Given the description of an element on the screen output the (x, y) to click on. 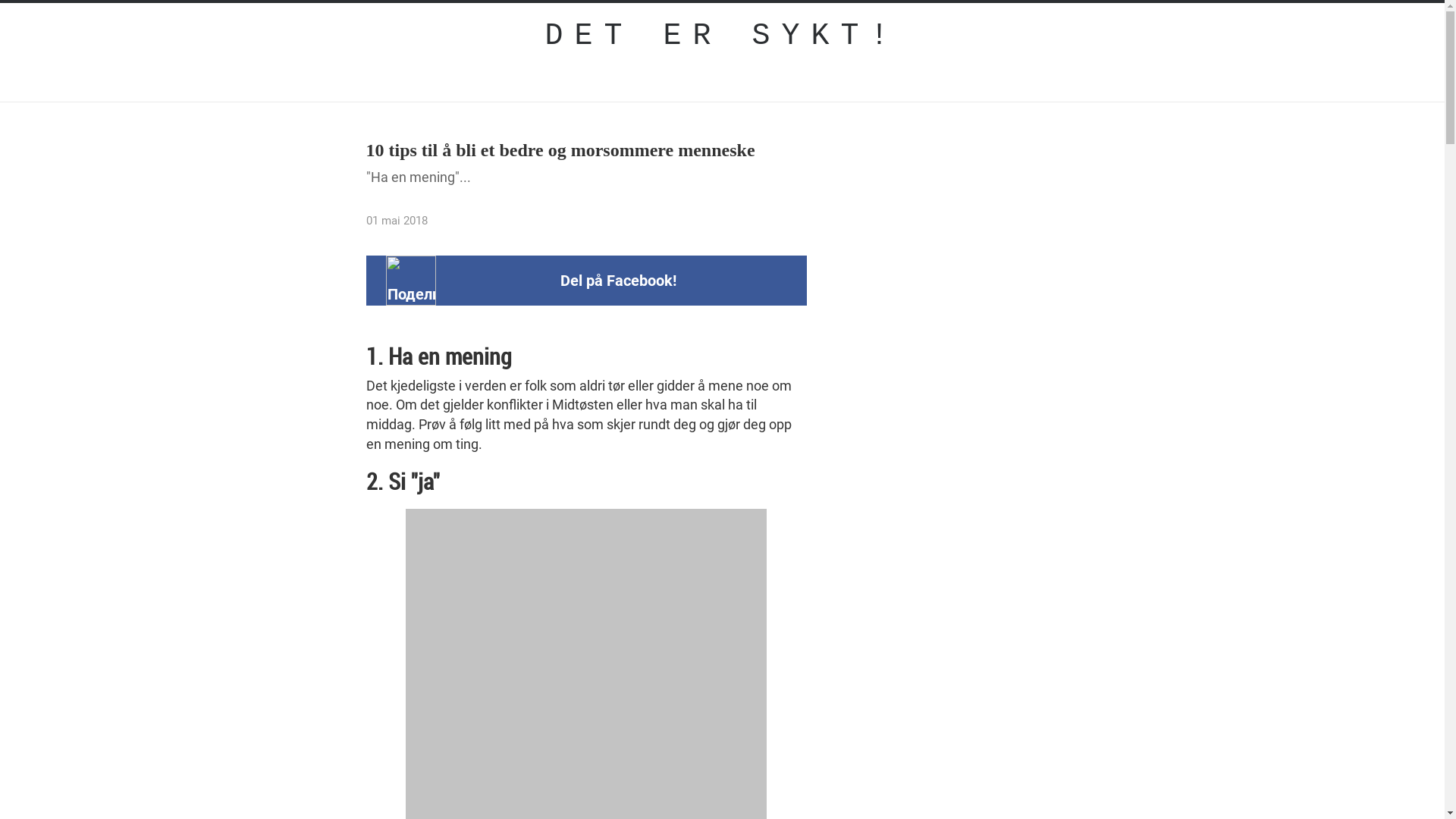
DET ER SYKT! Element type: text (722, 35)
